Given the description of an element on the screen output the (x, y) to click on. 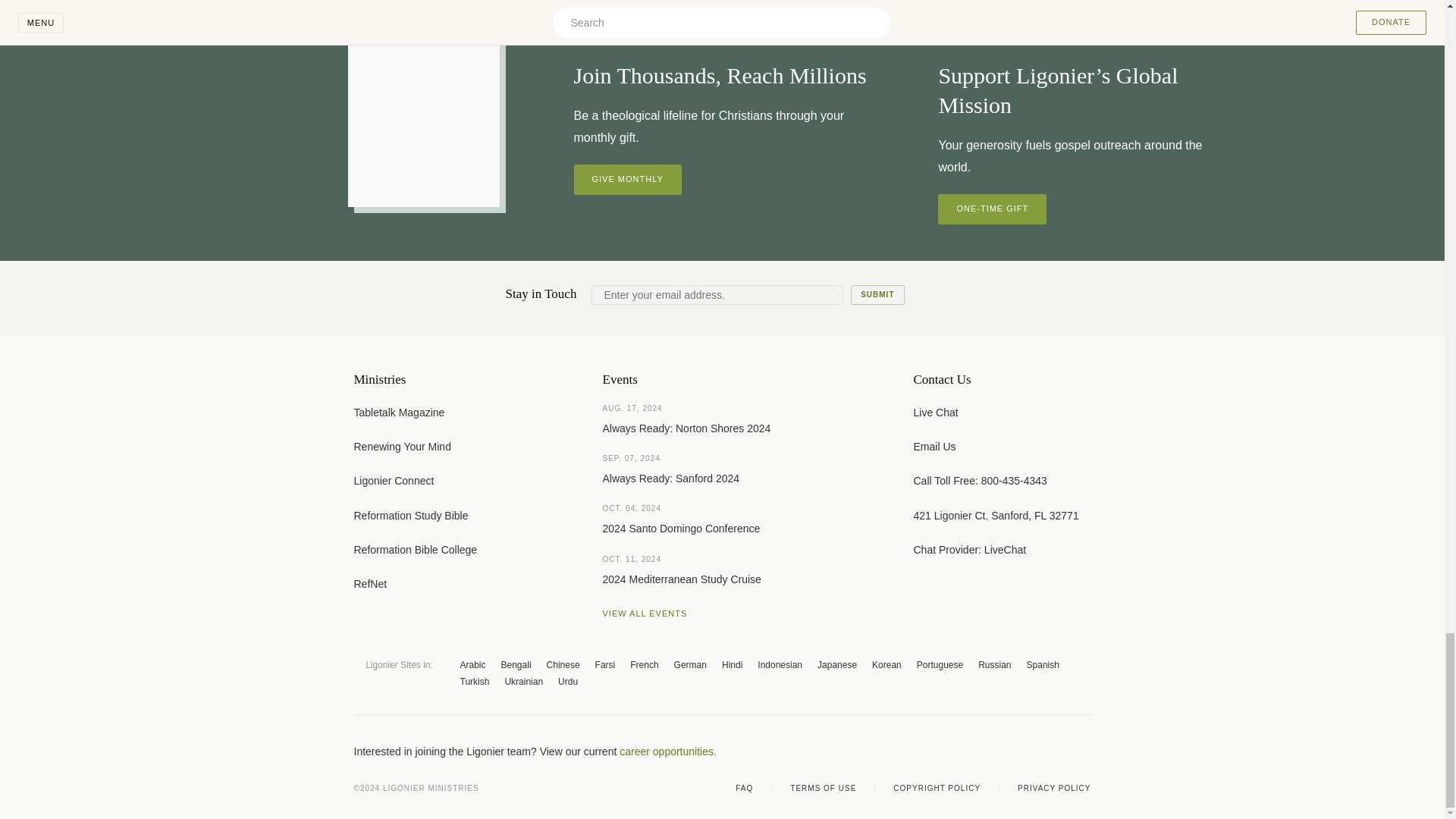
Facebook (962, 751)
YouTube (1023, 751)
X (993, 751)
Instagram (1053, 751)
Linkedin (1083, 751)
